Given the description of an element on the screen output the (x, y) to click on. 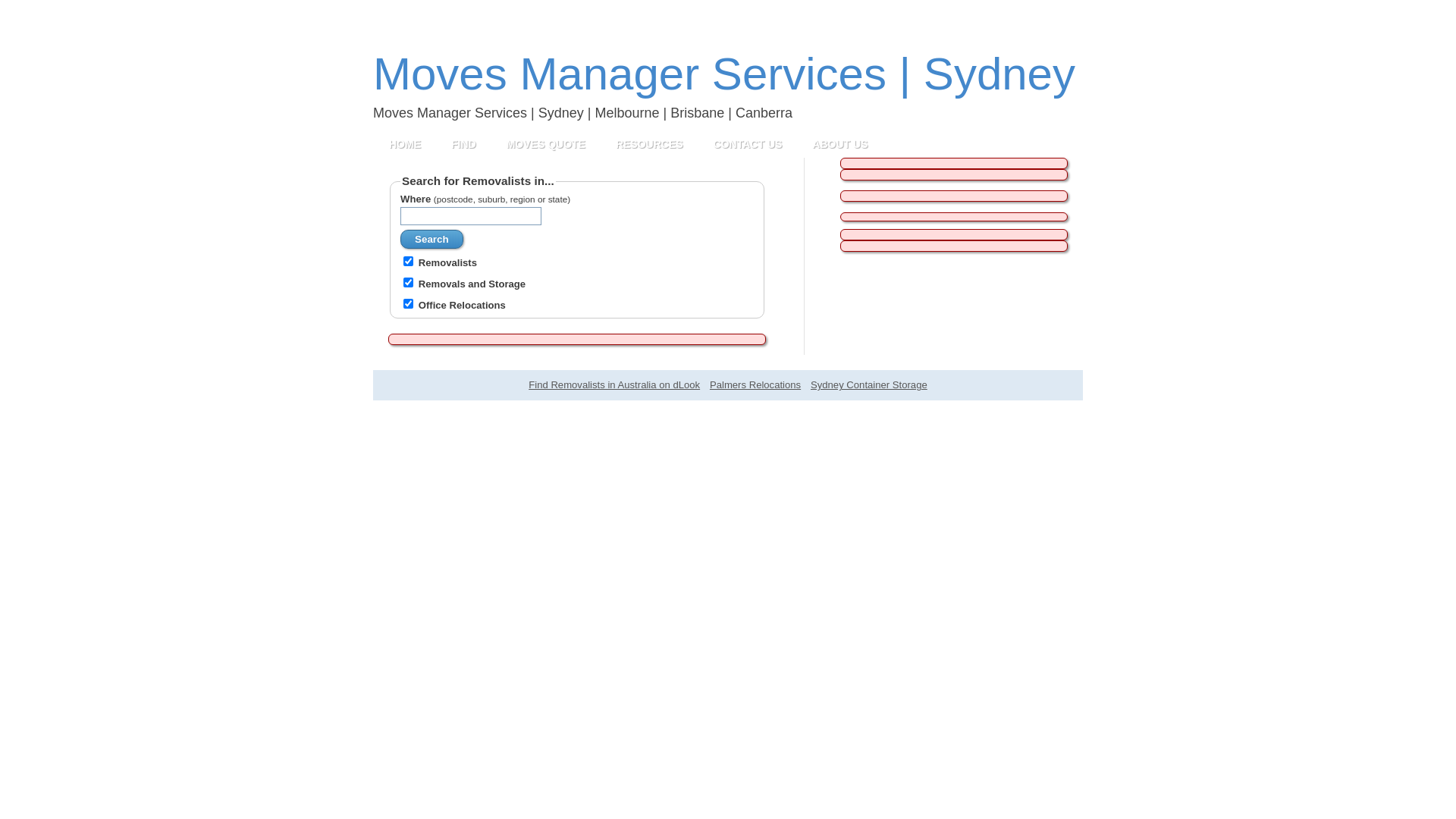
MOVES QUOTE Element type: text (545, 143)
ABOUT US Element type: text (839, 143)
Search Element type: text (431, 238)
Sydney Container Storage Element type: text (868, 384)
RESOURCES Element type: text (649, 143)
Where - postcode or suburb. Element type: hover (470, 216)
HOME Element type: text (404, 143)
Palmers Relocations Element type: text (754, 384)
CONTACT US Element type: text (747, 143)
FIND Element type: text (463, 143)
Find Removalists in Australia on dLook Element type: text (613, 384)
